Given the description of an element on the screen output the (x, y) to click on. 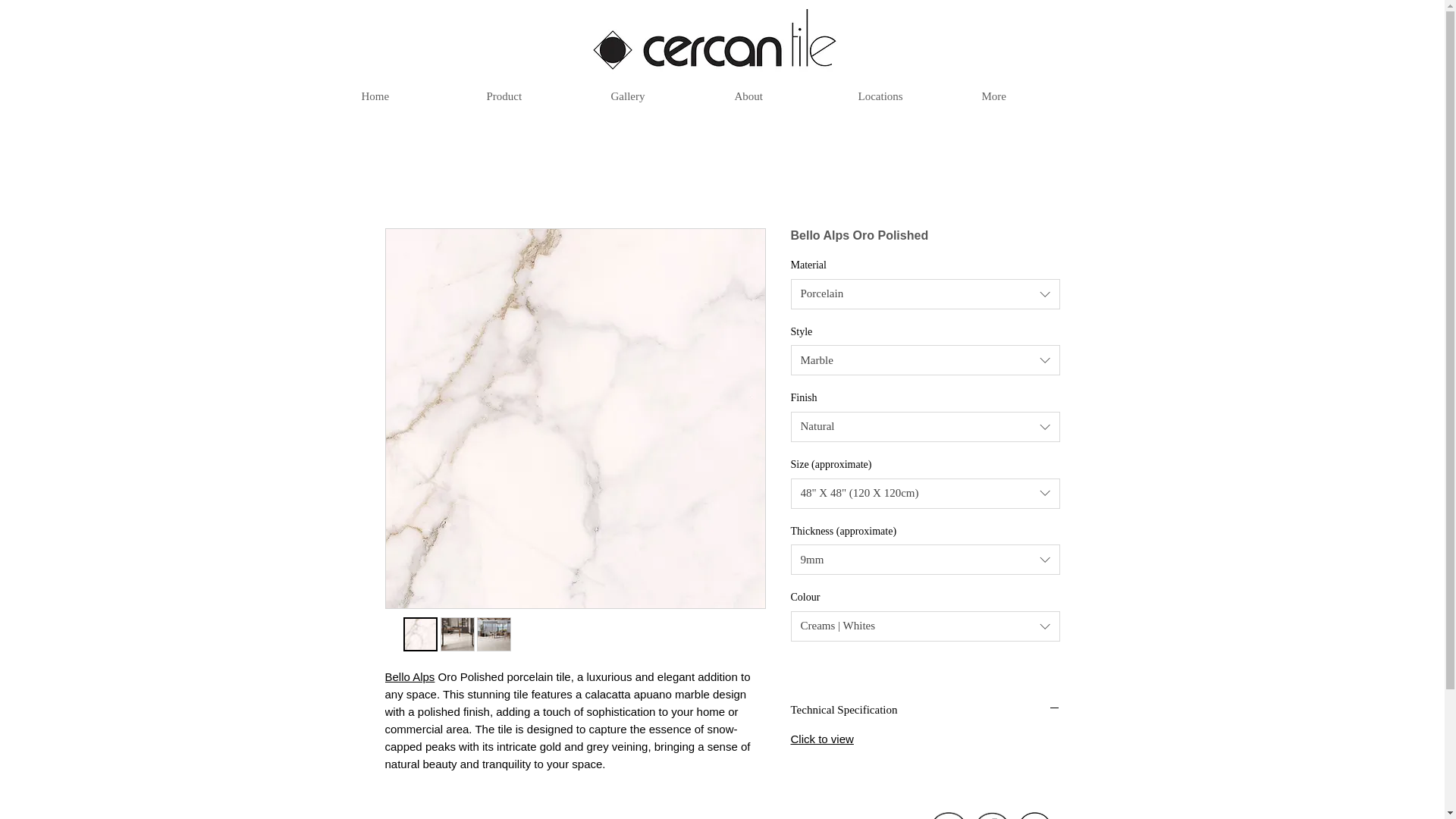
Bello Alps (410, 676)
Locations (907, 96)
Home (412, 96)
Porcelain (924, 294)
Product (536, 96)
Natural (924, 426)
Marble (924, 359)
Gallery (660, 96)
About (783, 96)
